Given the description of an element on the screen output the (x, y) to click on. 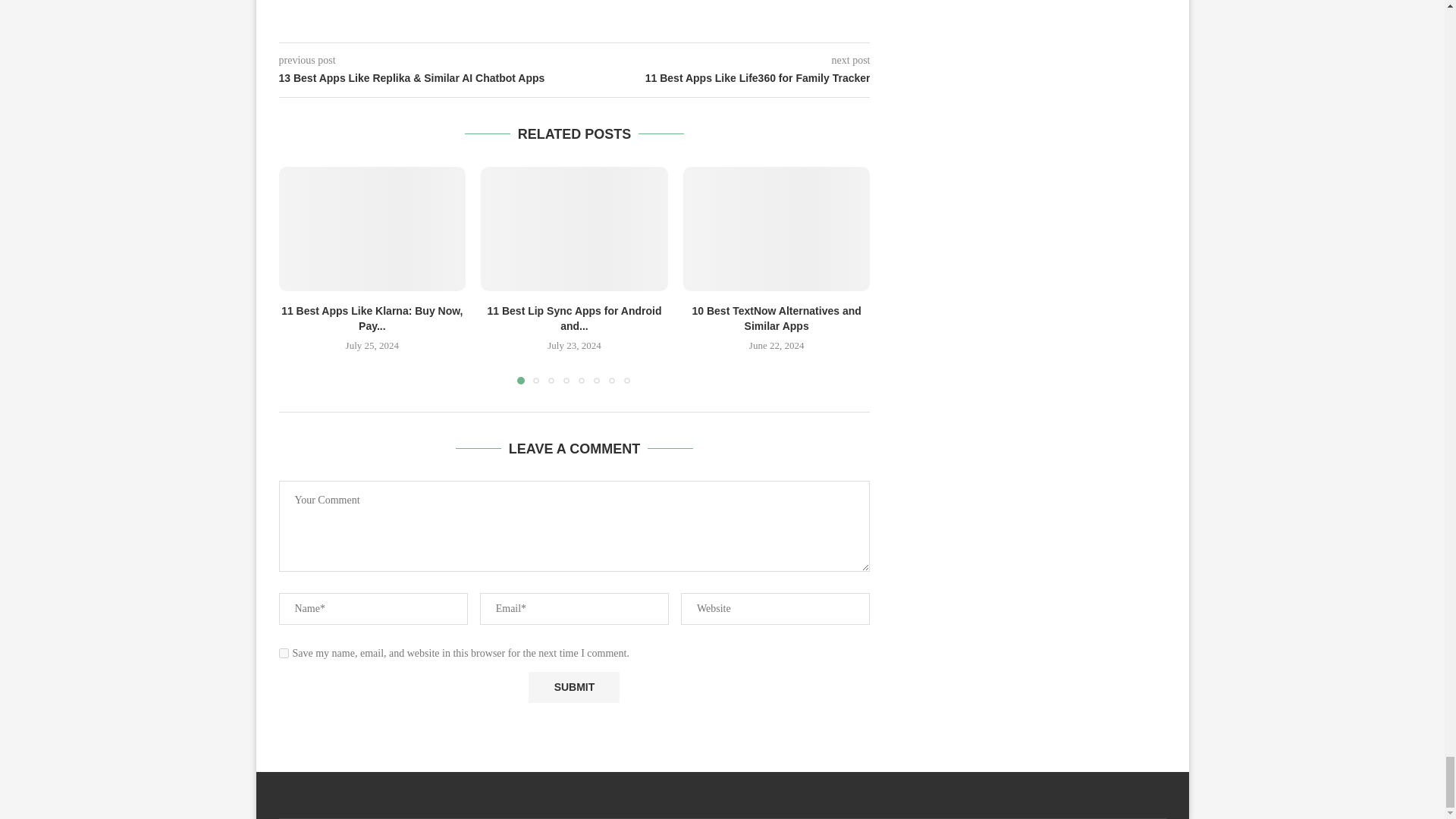
Submit (574, 686)
yes (283, 653)
